Given the description of an element on the screen output the (x, y) to click on. 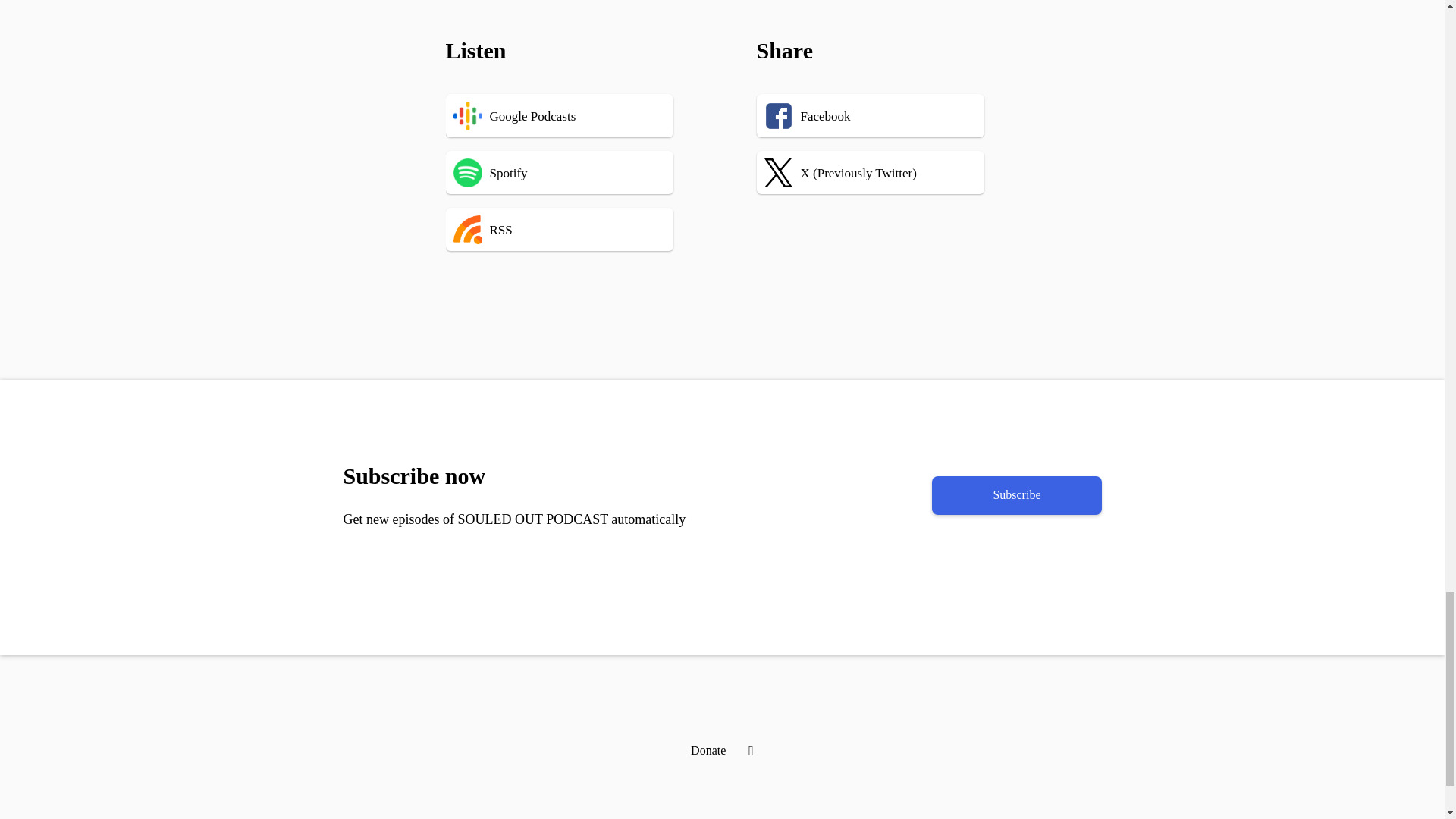
Spotify (582, 172)
RSS (582, 229)
Donate (707, 749)
Google Podcasts (582, 115)
Subscribe (1015, 495)
Facebook (877, 115)
